Given the description of an element on the screen output the (x, y) to click on. 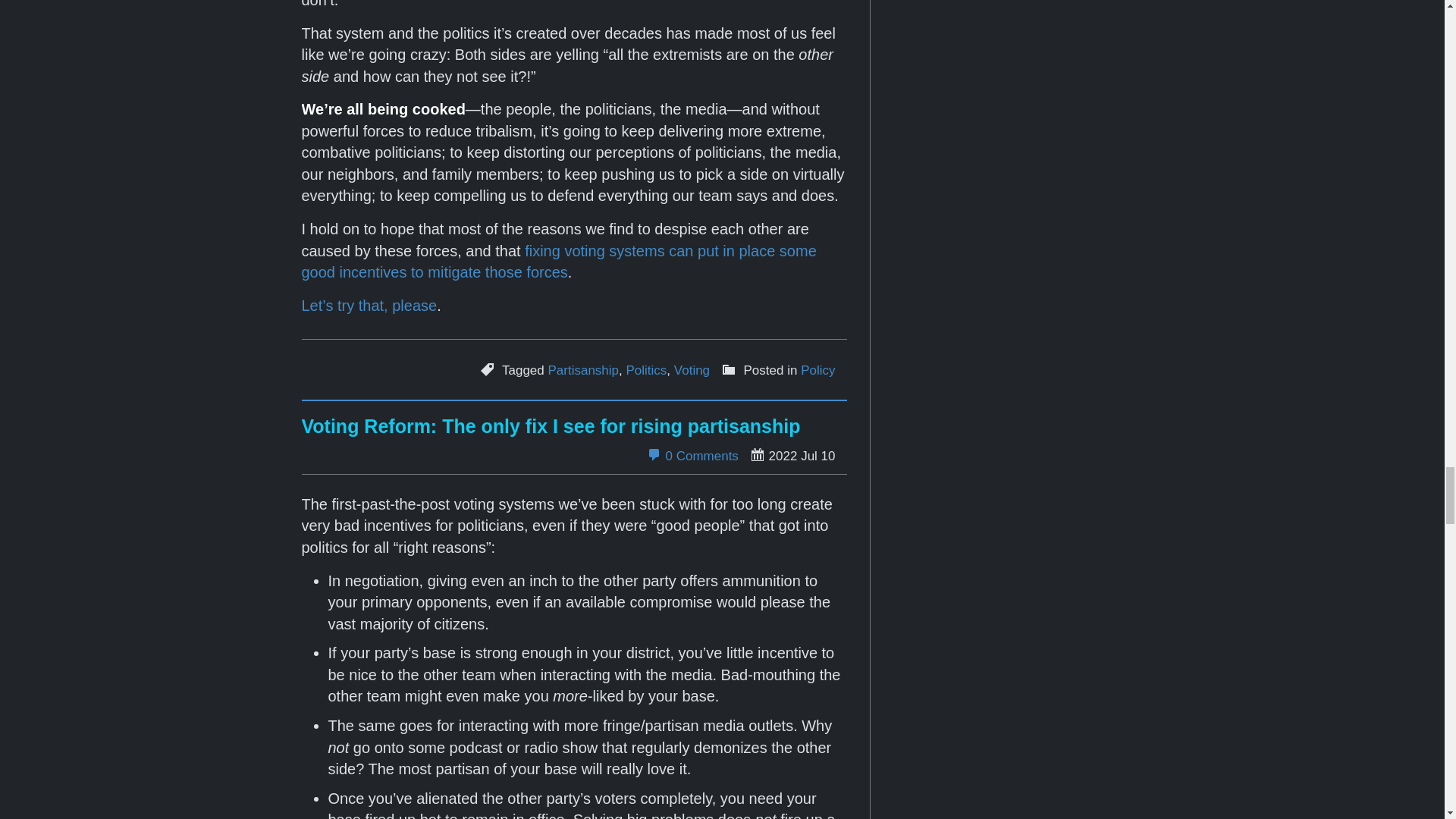
Sunday, July 10, 2022 1:06 pm (792, 455)
